Given the description of an element on the screen output the (x, y) to click on. 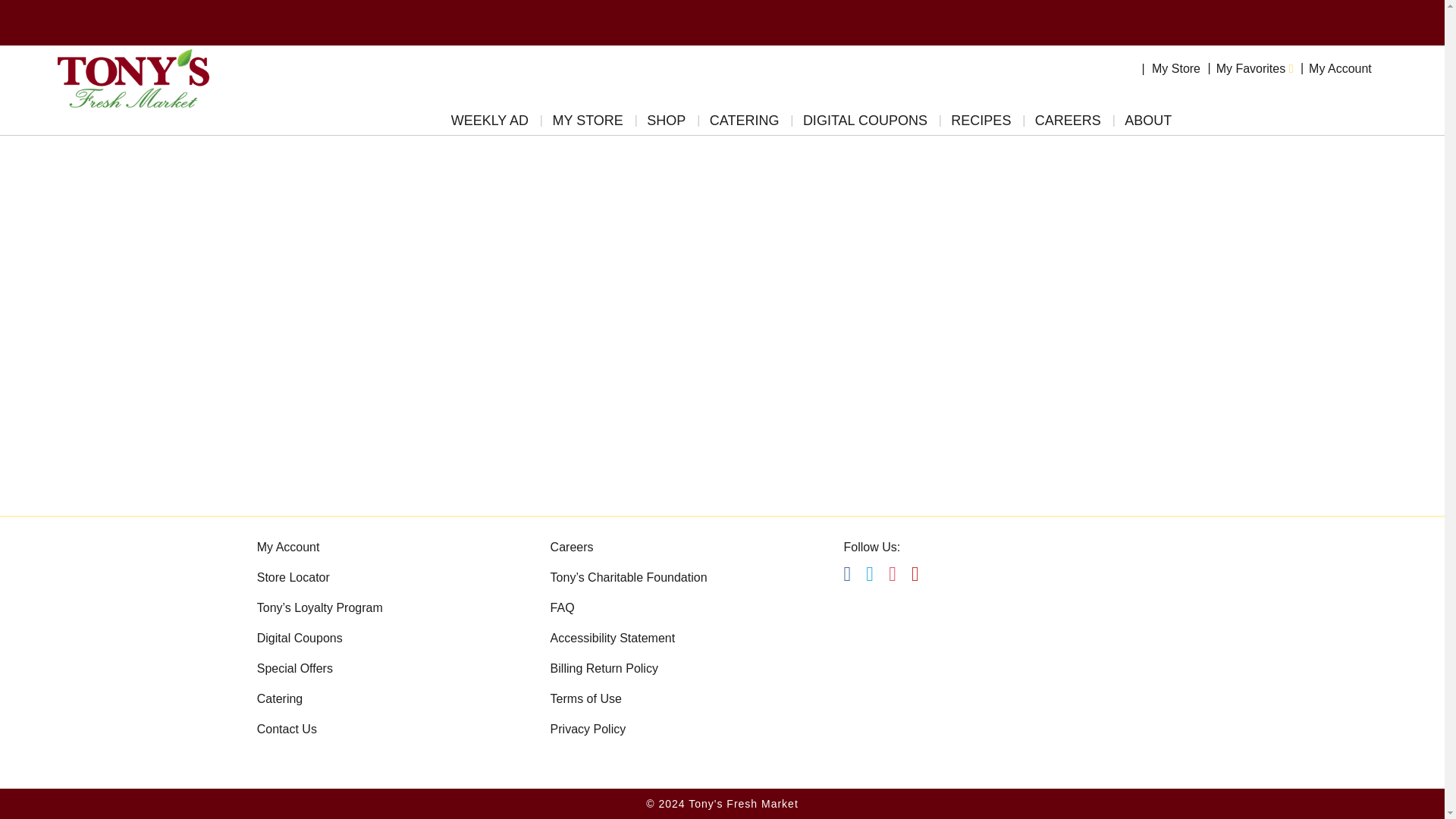
My Favorites  (1254, 68)
SHOP (665, 124)
MY STORE (587, 124)
CATERING (744, 124)
CAREERS (1068, 124)
My Store (1175, 68)
ABOUT (1147, 124)
DIGITAL COUPONS (864, 124)
RECIPES (981, 124)
WEEKLY AD (489, 124)
My Account (1339, 68)
